Given the description of an element on the screen output the (x, y) to click on. 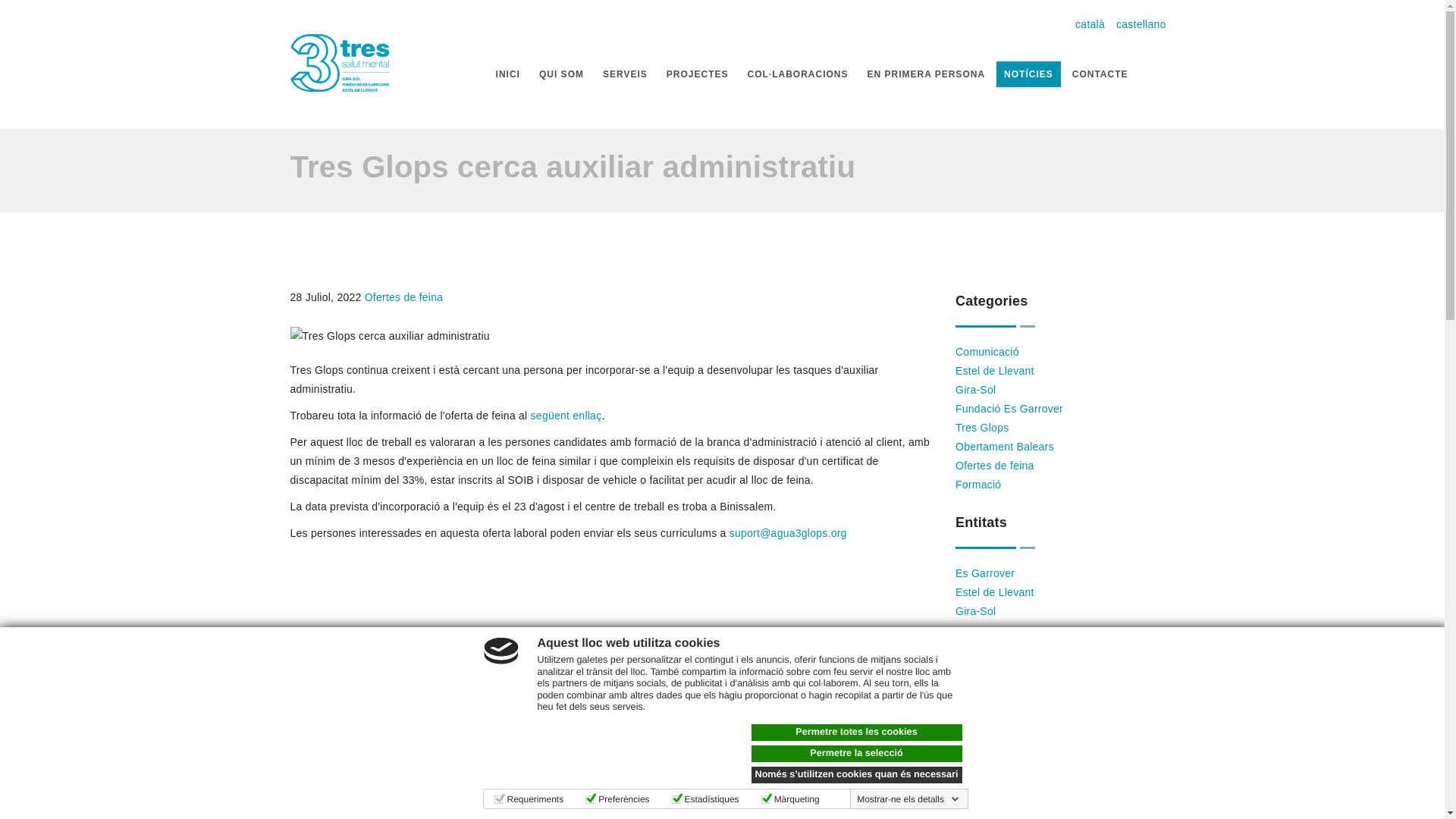
Mostrar-ne els detalls Element type: text (907, 799)
QUI SOM Element type: text (561, 74)
PROJECTES Element type: text (697, 74)
Ofertes de feina Element type: text (403, 297)
Permetre totes les cookies Element type: text (855, 732)
Estel de Llevant Element type: text (994, 370)
castellano Element type: text (1141, 24)
Obertament Balears Element type: text (1004, 446)
Gira-Sol Element type: text (975, 389)
EN PRIMERA PERSONA Element type: text (925, 74)
Estel de Llevant Element type: text (994, 592)
Es Garrover Element type: text (984, 573)
SERVEIS Element type: text (625, 74)
Gira-Sol Element type: text (975, 611)
Ofertes de feina Element type: text (994, 465)
suport@agua3glops.org Element type: text (788, 533)
INICI Element type: text (507, 74)
CONTACTE Element type: text (1099, 74)
Tres Glops Element type: text (981, 427)
